Given the description of an element on the screen output the (x, y) to click on. 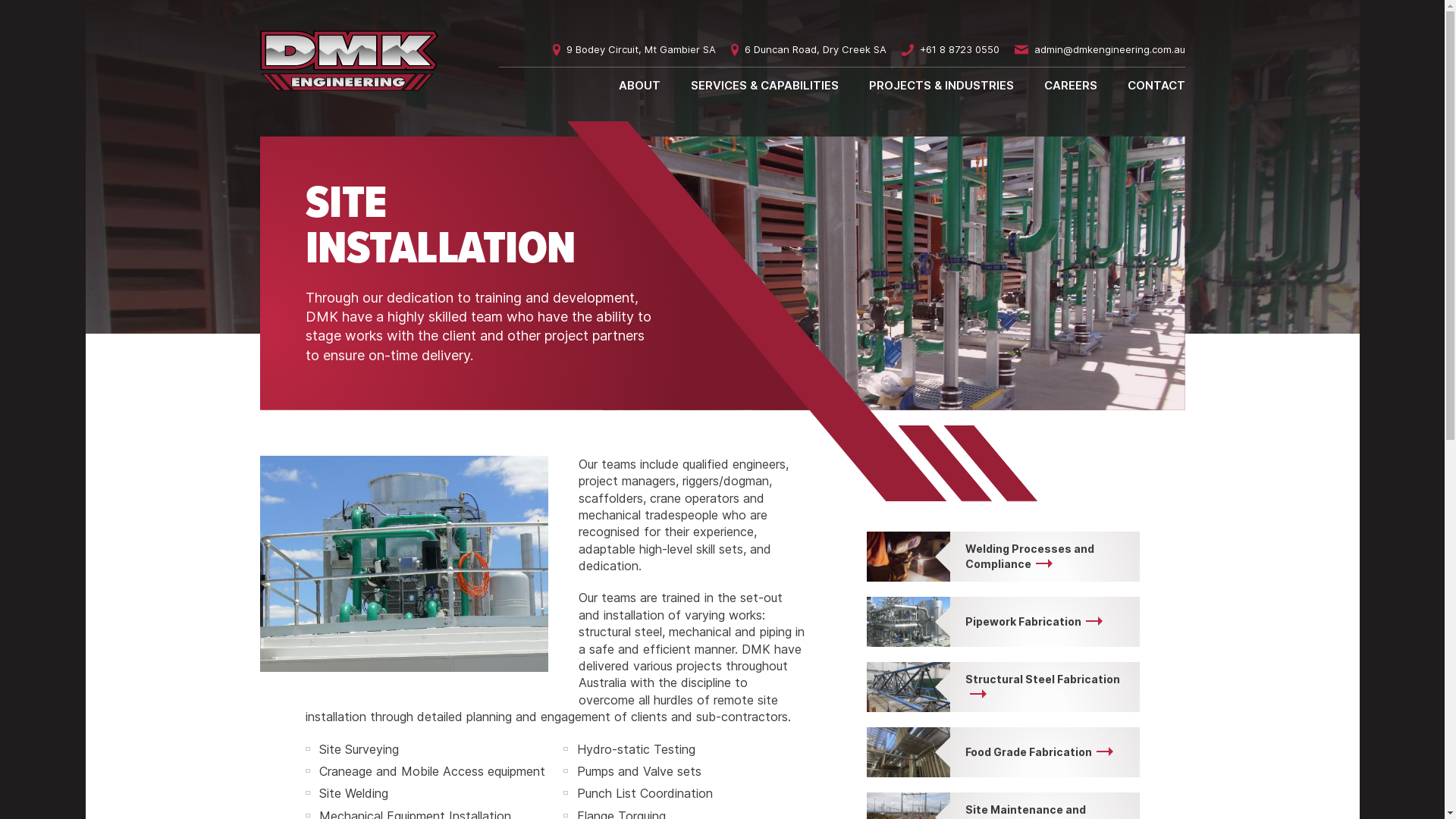
9 Bodey Circuit, Mt Gambier SA Element type: text (633, 49)
ABOUT Element type: text (639, 84)
Welding Processes and Compliance Element type: text (1002, 556)
Structural Steel Fabrication Element type: text (1002, 687)
Pipework Fabrication Element type: text (1002, 621)
6 Duncan Road, Dry Creek SA Element type: text (808, 49)
SERVICES & CAPABILITIES Element type: text (763, 84)
CONTACT Element type: text (1155, 84)
PROJECTS & INDUSTRIES Element type: text (941, 84)
Food Grade Fabrication Element type: text (1002, 752)
CAREERS Element type: text (1069, 84)
+61 8 8723 0550 Element type: text (949, 49)
admin@dmkengineering.com.au Element type: text (1099, 49)
